Given the description of an element on the screen output the (x, y) to click on. 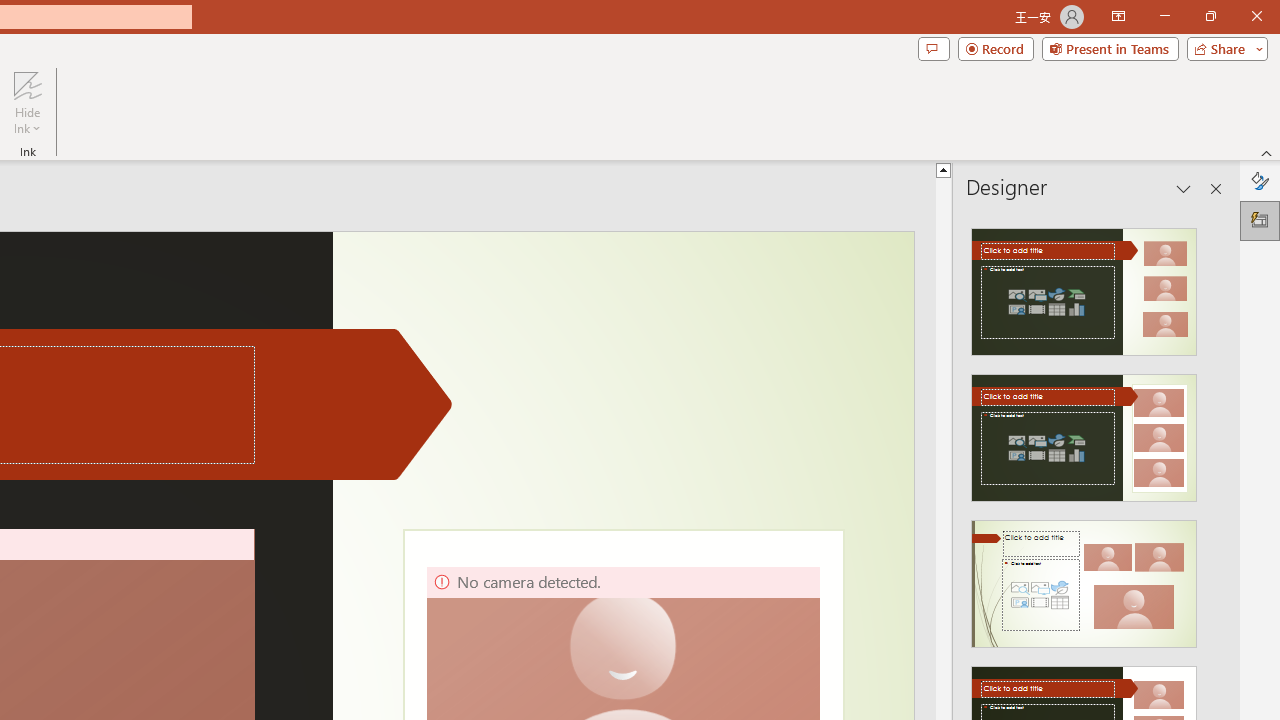
Line up (943, 169)
Recommended Design: Design Idea (1083, 286)
